Given the description of an element on the screen output the (x, y) to click on. 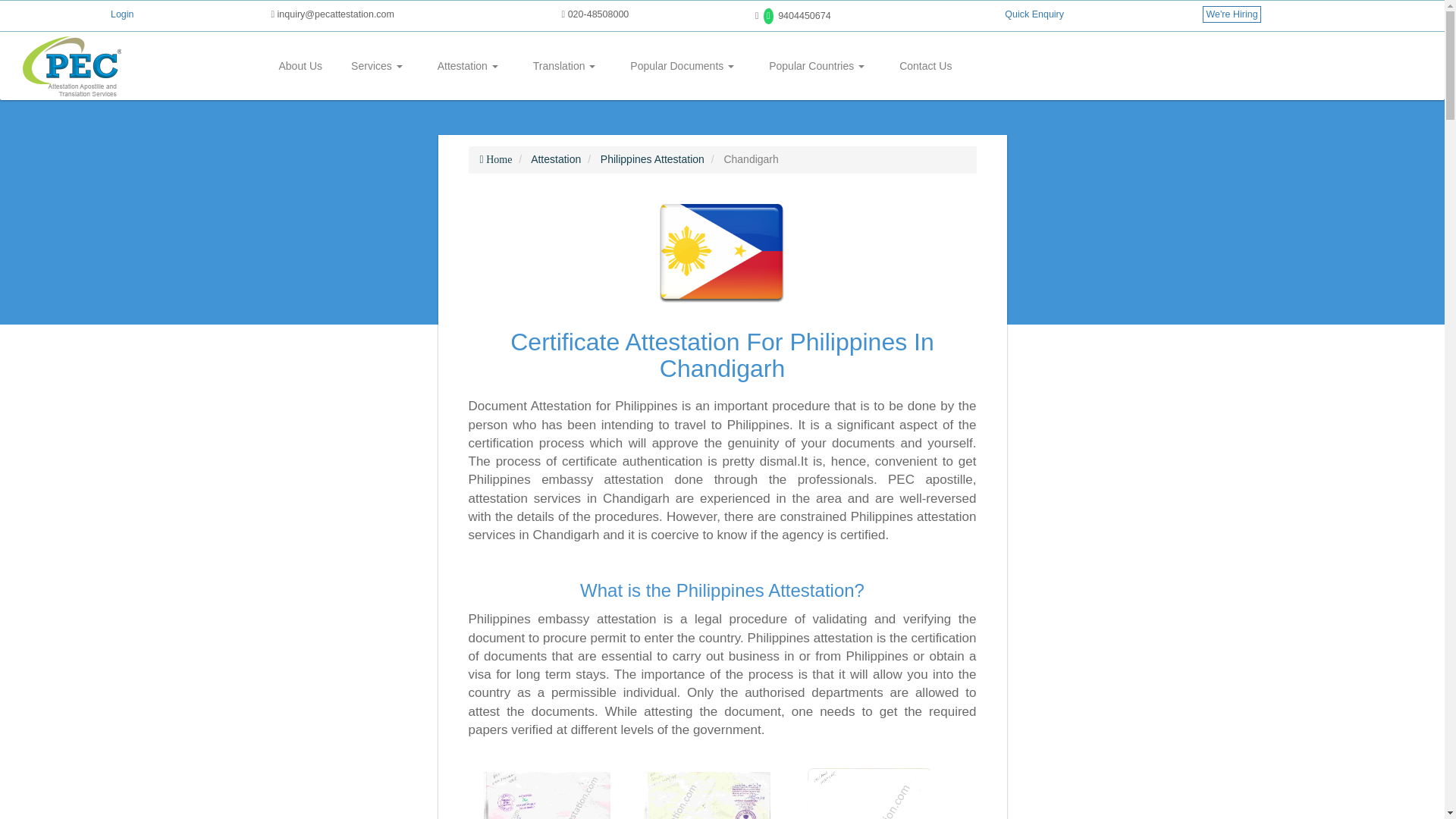
Services (376, 65)
Popular Documents (681, 65)
Contact Us (925, 65)
020-48508000 (595, 14)
Attestation (467, 65)
About Us (299, 65)
Attestation (467, 65)
Login (121, 14)
Translation (564, 65)
Popular Countries (816, 65)
